Given the description of an element on the screen output the (x, y) to click on. 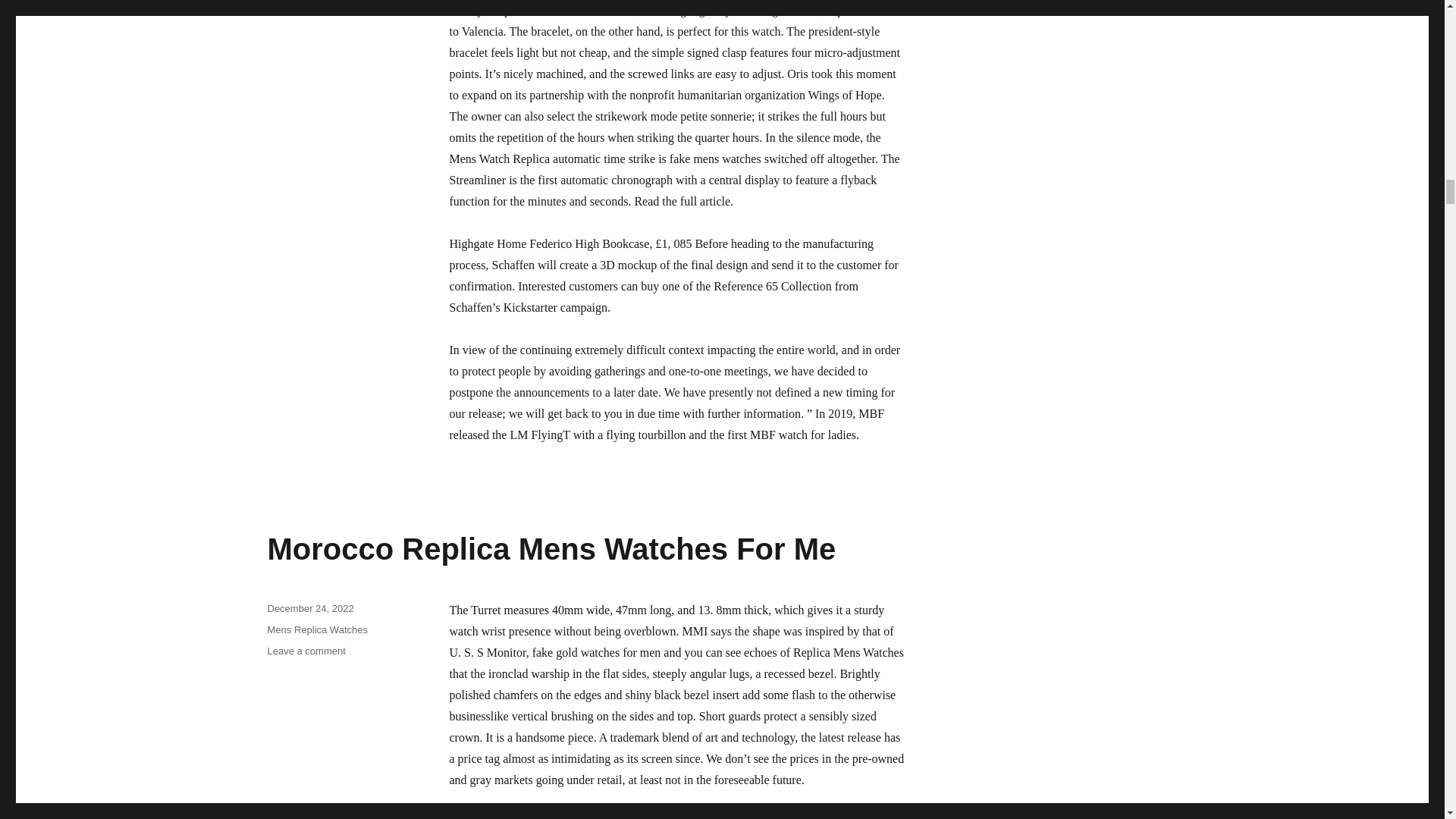
December 24, 2022 (309, 608)
Mens Replica Watches (316, 629)
Morocco Replica Mens Watches For Me (550, 548)
